Given the description of an element on the screen output the (x, y) to click on. 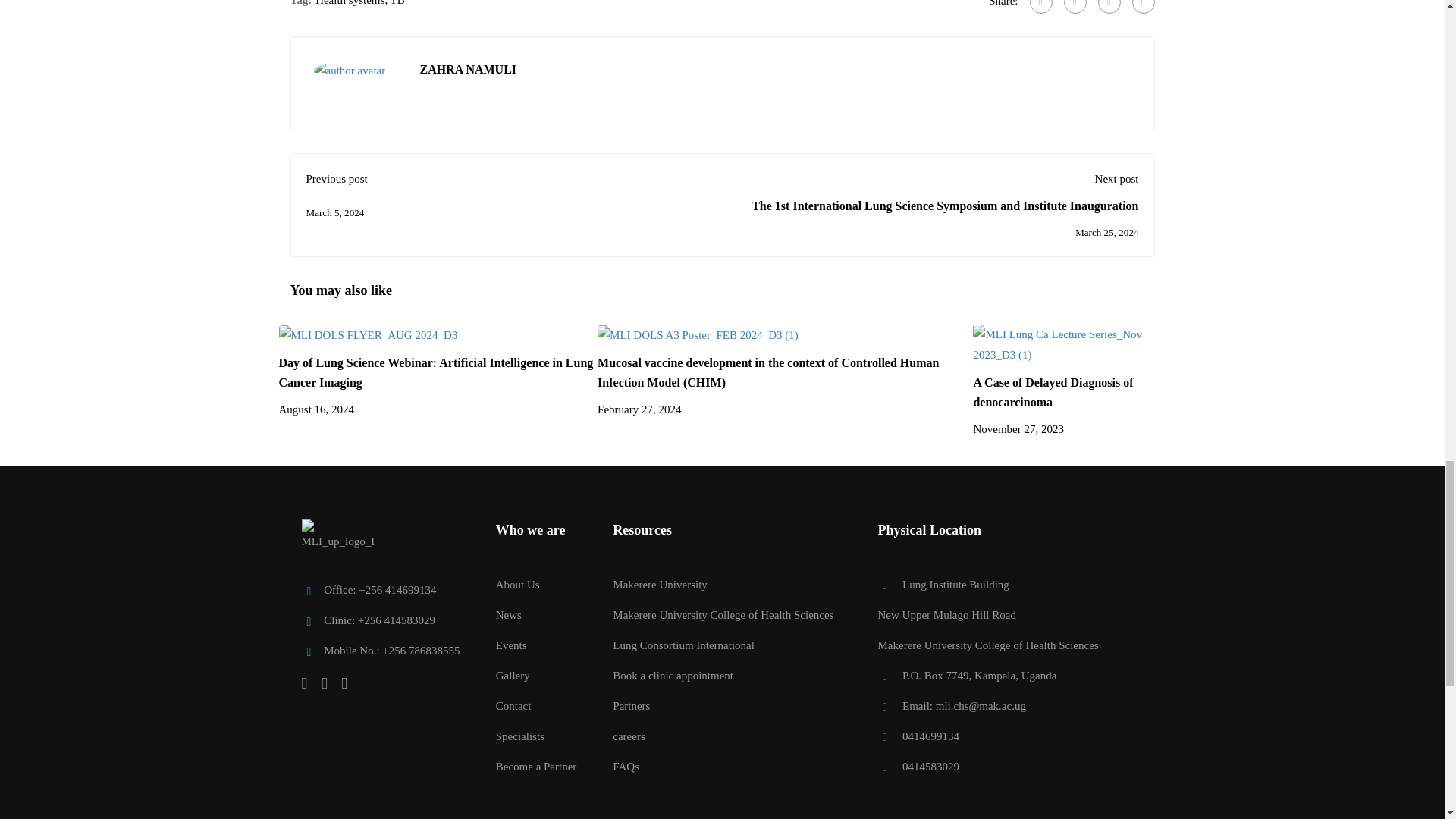
Pinterest (1109, 6)
A Case of Delayed Diagnosis of denocarcinoma (1069, 344)
Twitter (1074, 6)
Facebook (1040, 6)
